Given the description of an element on the screen output the (x, y) to click on. 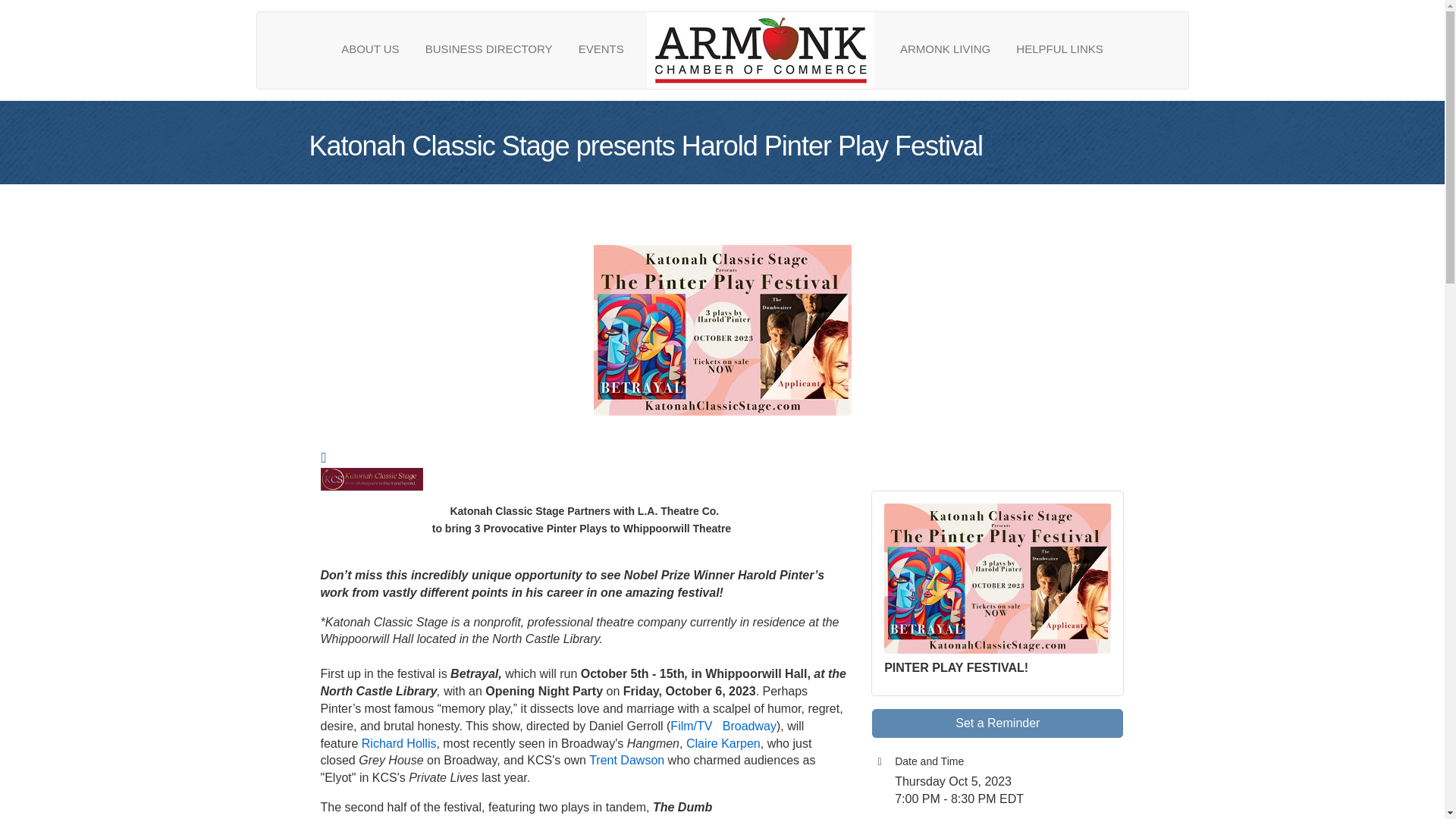
HELPFUL LINKS (1059, 48)
Richard Hollis (398, 743)
Broadway (749, 725)
ABOUT US (370, 48)
EVENTS (600, 48)
BUSINESS DIRECTORY (488, 48)
Claire Karpen (722, 743)
Trent Dawson (626, 759)
ARMONK LIVING (944, 48)
